Given the description of an element on the screen output the (x, y) to click on. 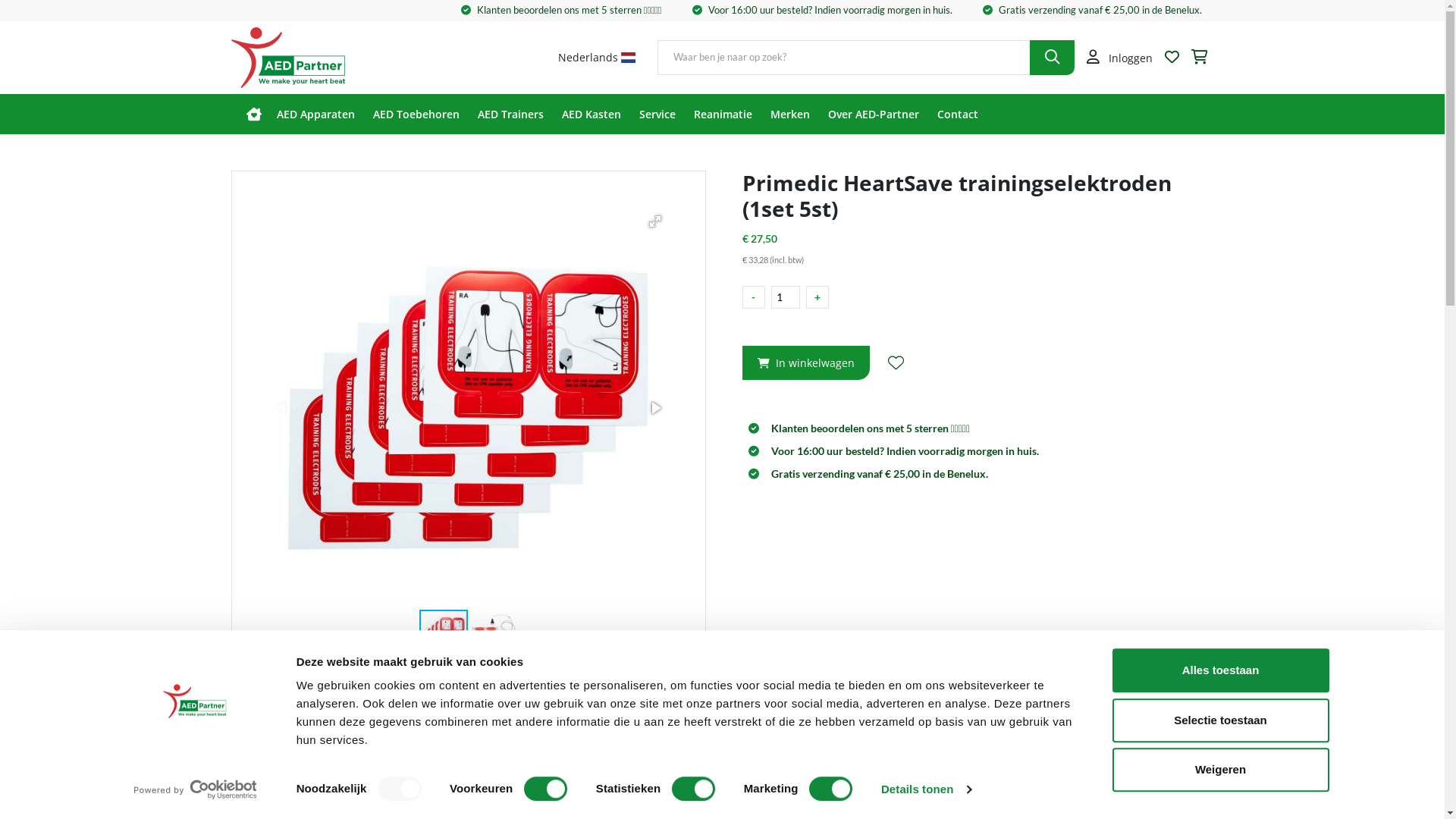
AED Apparaten Element type: text (314, 114)
Weigeren Element type: text (1219, 769)
Inloggen Element type: text (1118, 57)
Reanimatie Element type: text (722, 114)
Details tonen Element type: text (926, 789)
Nederlands Element type: text (596, 57)
Alles toestaan Element type: text (1219, 670)
AED Toebehoren Element type: text (416, 114)
Service Element type: text (656, 114)
Winkelwagen Element type: text (1198, 57)
Bewaarde producten Element type: text (1171, 57)
Contact Element type: text (957, 114)
In winkelwagen Element type: text (805, 362)
Over AED-Partner Element type: text (873, 114)
Merken Element type: text (789, 114)
AED Trainers Element type: text (510, 114)
Selectie toestaan Element type: text (1219, 720)
AED Kasten Element type: text (590, 114)
